Given the description of an element on the screen output the (x, y) to click on. 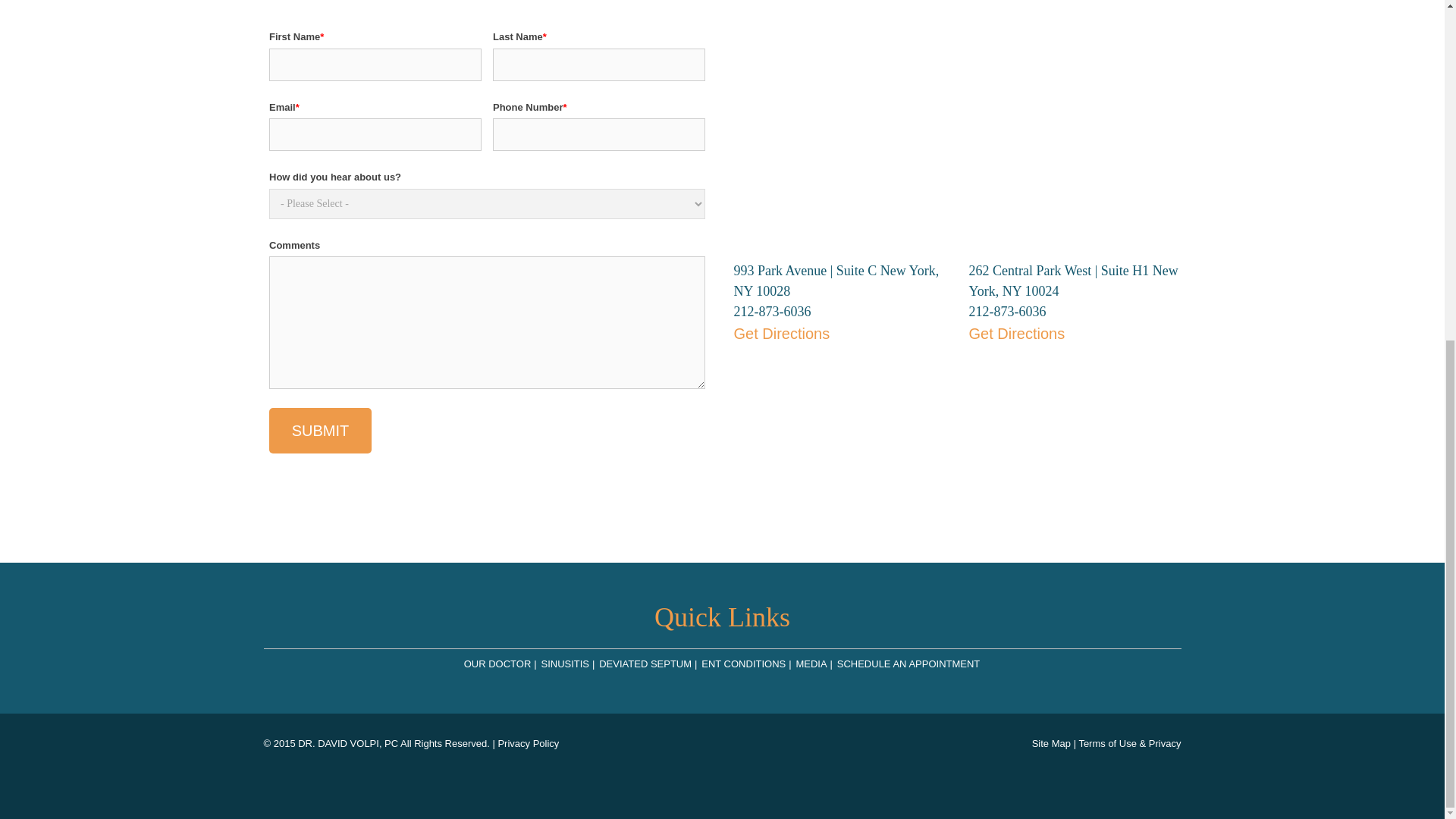
Get Directions    (839, 366)
Submit (320, 430)
Submit (320, 430)
Get Directions    (1074, 366)
